Given the description of an element on the screen output the (x, y) to click on. 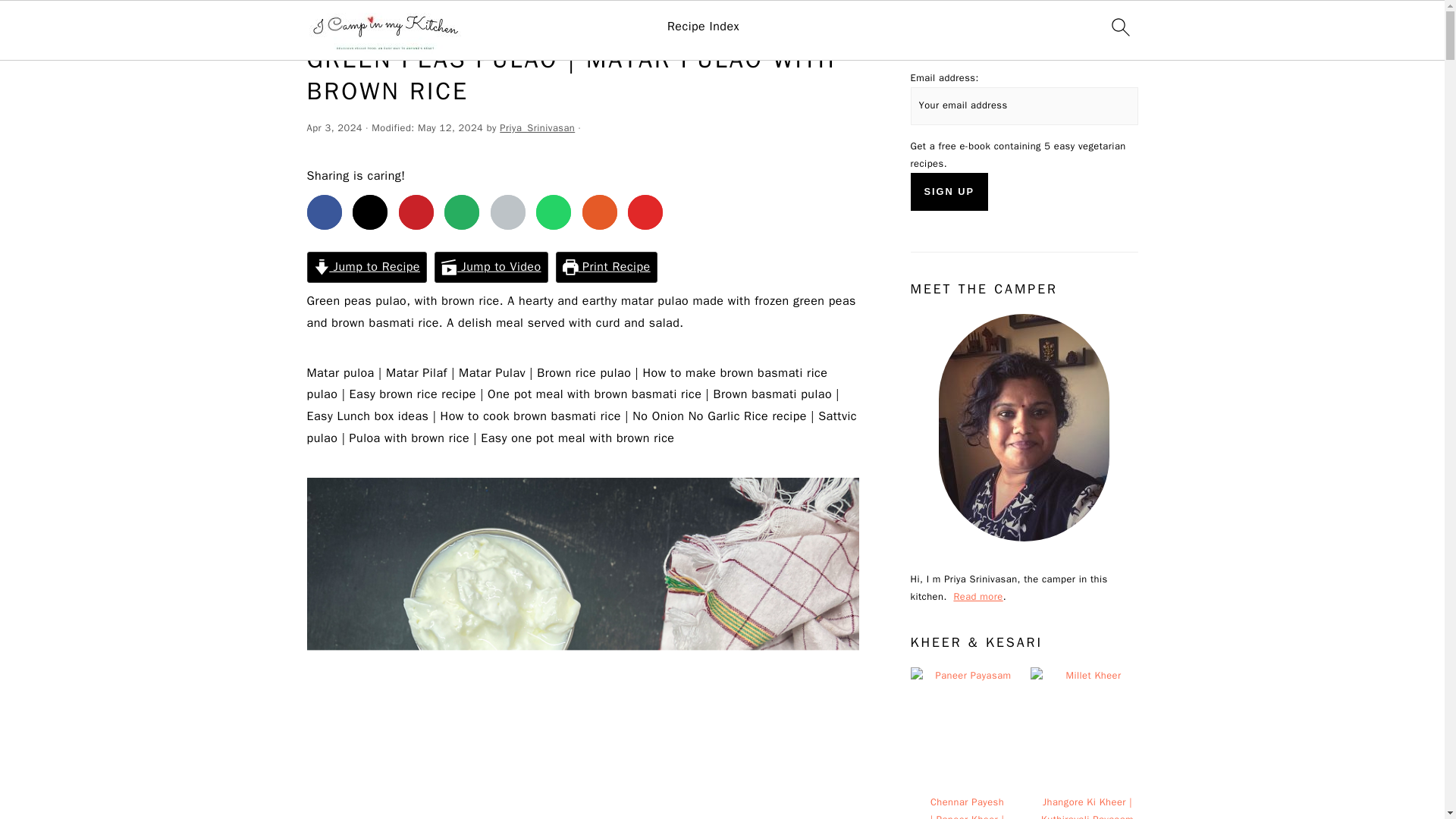
Share on Yummly (599, 212)
Recipe Index (702, 26)
Share on Facebook (322, 212)
Home (319, 23)
search icon (1119, 26)
Lunch (357, 23)
Jump to Recipe (365, 266)
Sign up (949, 191)
Save to Pinterest (415, 212)
Share on WhatsApp (552, 212)
